Given the description of an element on the screen output the (x, y) to click on. 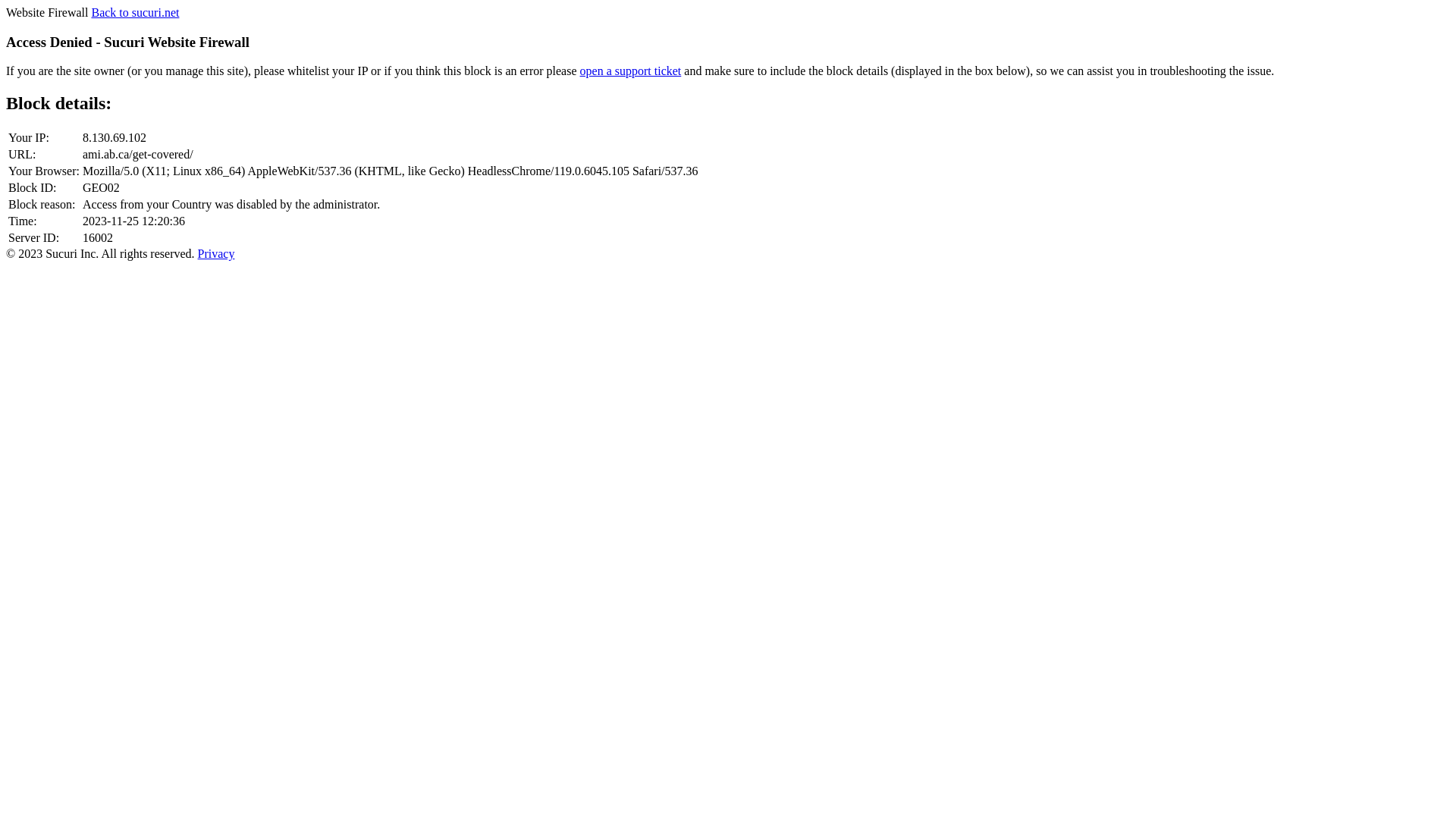
open a support ticket Element type: text (630, 70)
Privacy Element type: text (216, 253)
Back to sucuri.net Element type: text (134, 12)
